Given the description of an element on the screen output the (x, y) to click on. 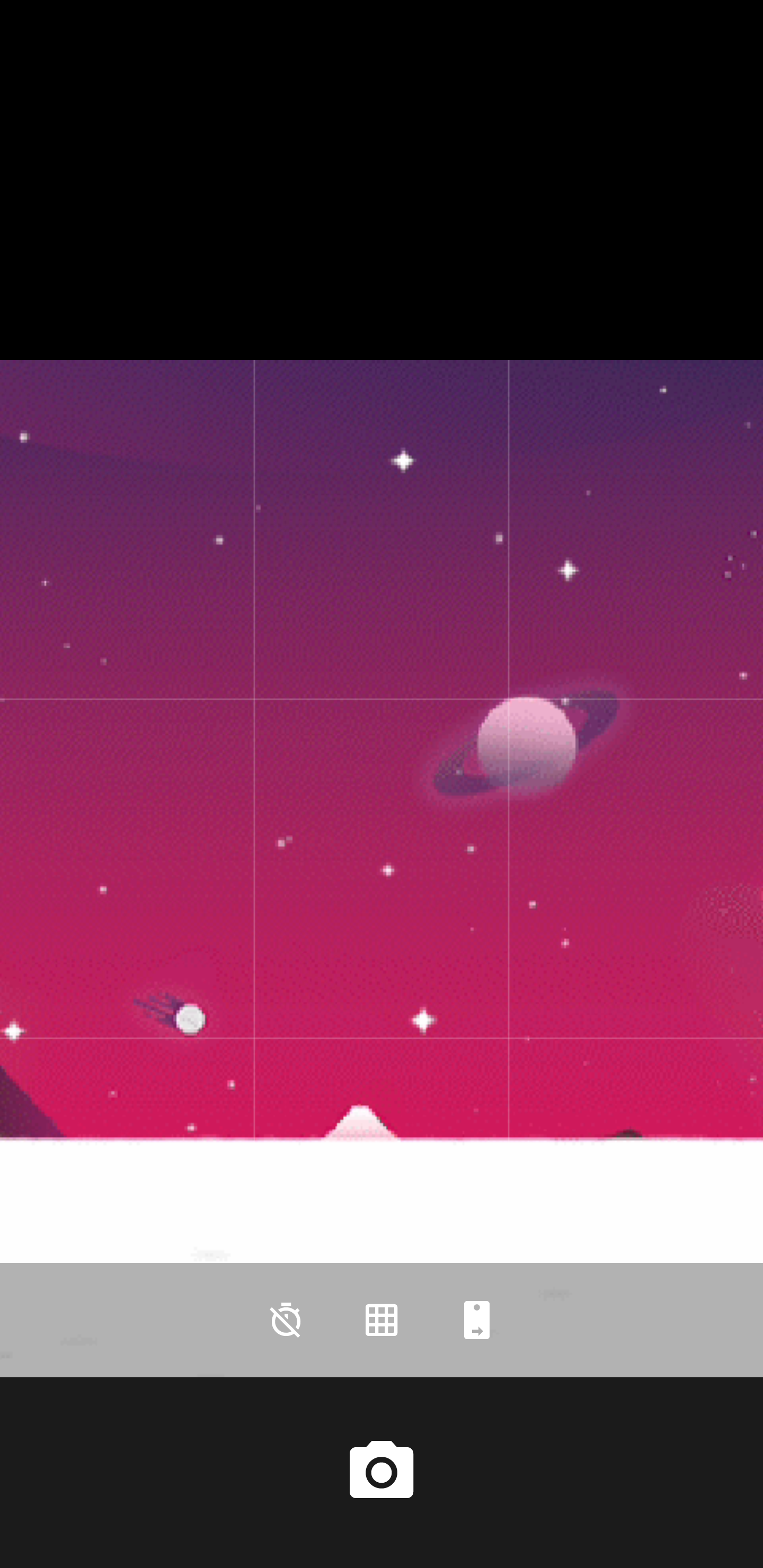
Countdown timer is off (285, 1319)
Grid lines on (381, 1319)
Back camera (476, 1319)
Shutter (381, 1472)
